Given the description of an element on the screen output the (x, y) to click on. 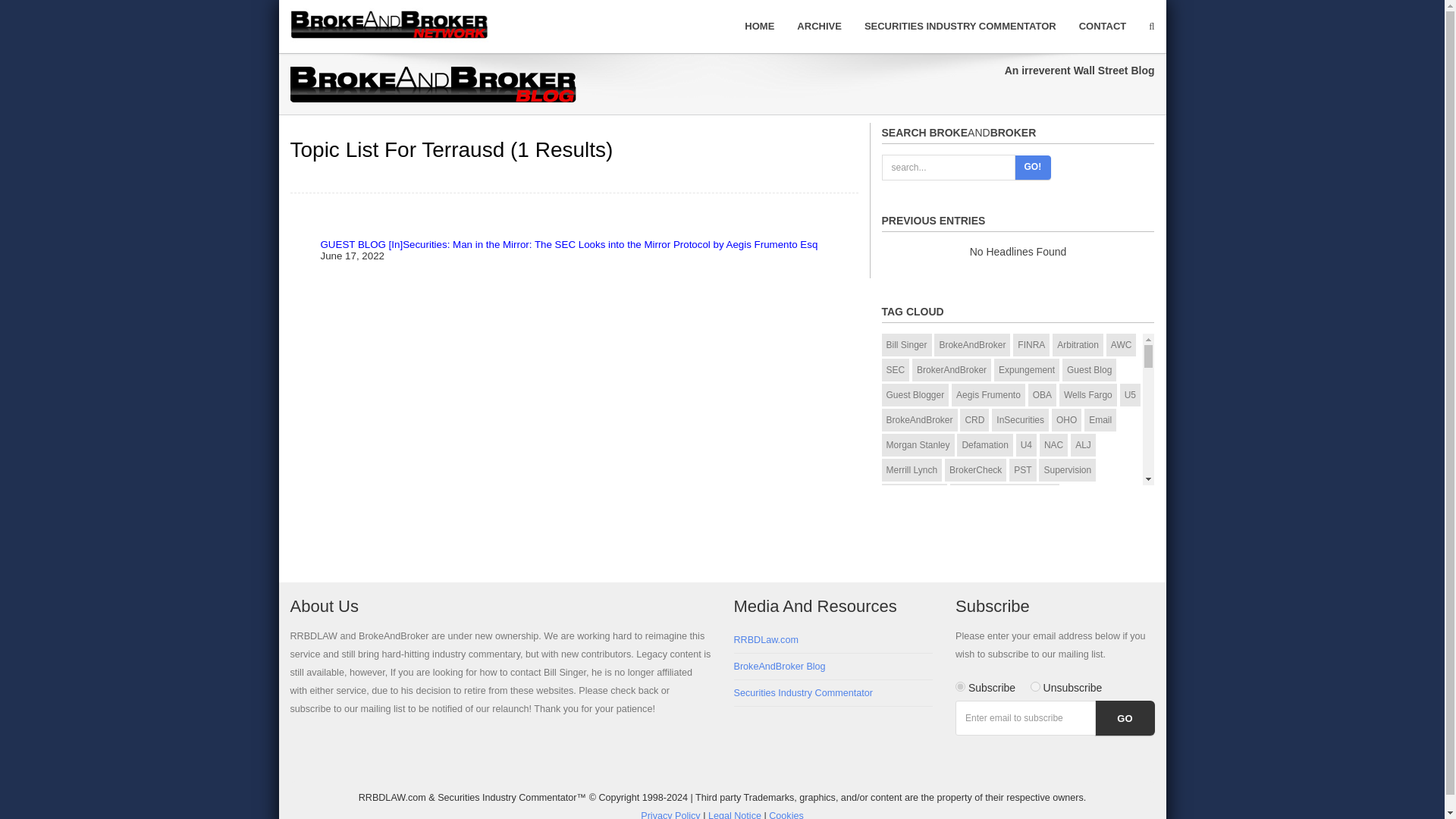
Guest Blogger (914, 395)
BrokeAndBroker (918, 419)
PST (1022, 469)
Morgan Stanley (916, 445)
SEC (894, 369)
BrokeAndBroker (972, 344)
InSecurities (1019, 419)
Expungement (1026, 369)
BrokerCheck (975, 469)
FINRA (1031, 344)
SECURITIES INDUSTRY COMMENTATOR (960, 26)
Merrill Lynch (911, 469)
OBA (1042, 395)
Supervision (1067, 469)
Guest Blog (1089, 369)
